Given the description of an element on the screen output the (x, y) to click on. 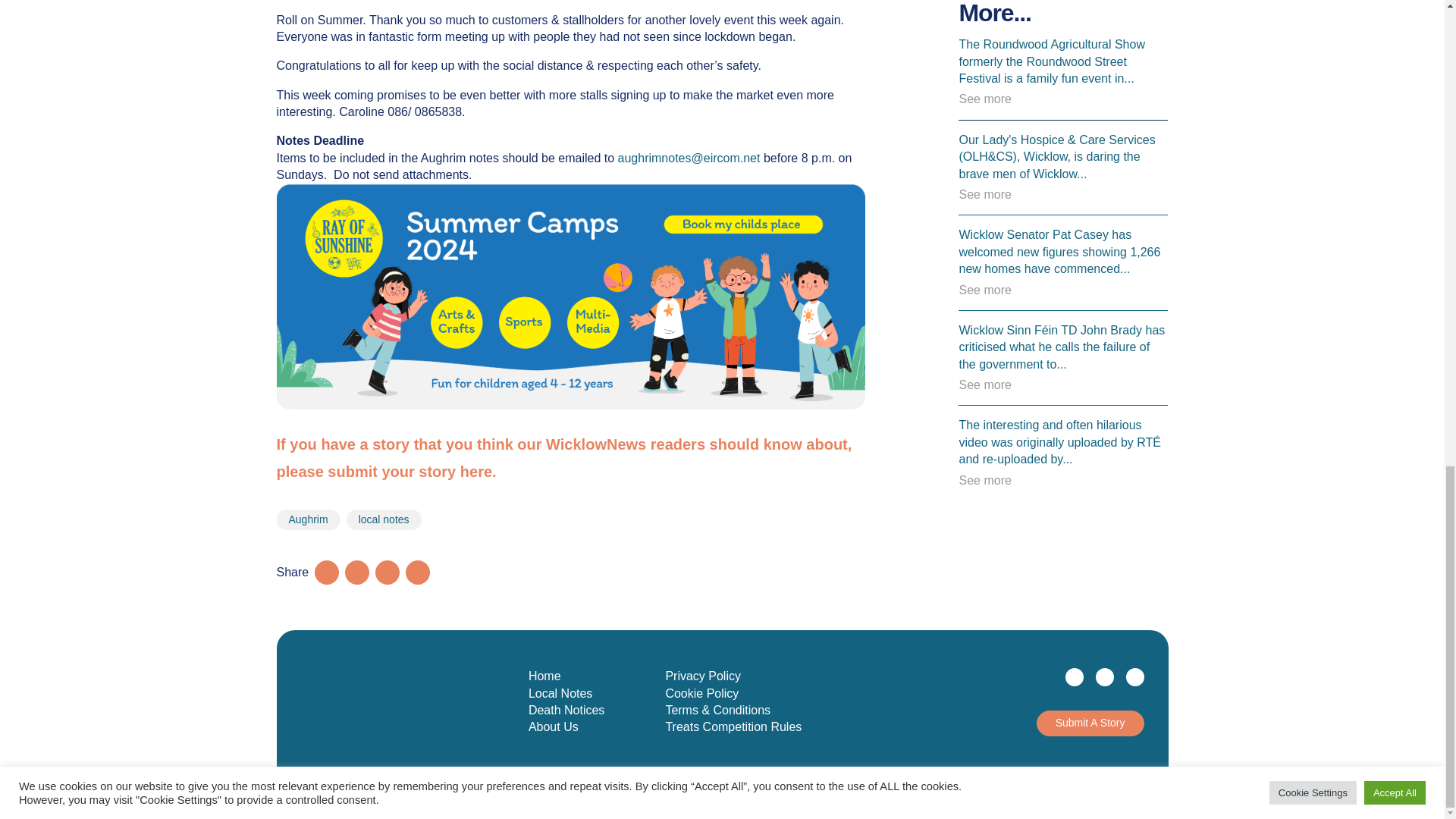
Aughrim (307, 519)
local notes (384, 519)
